Given the description of an element on the screen output the (x, y) to click on. 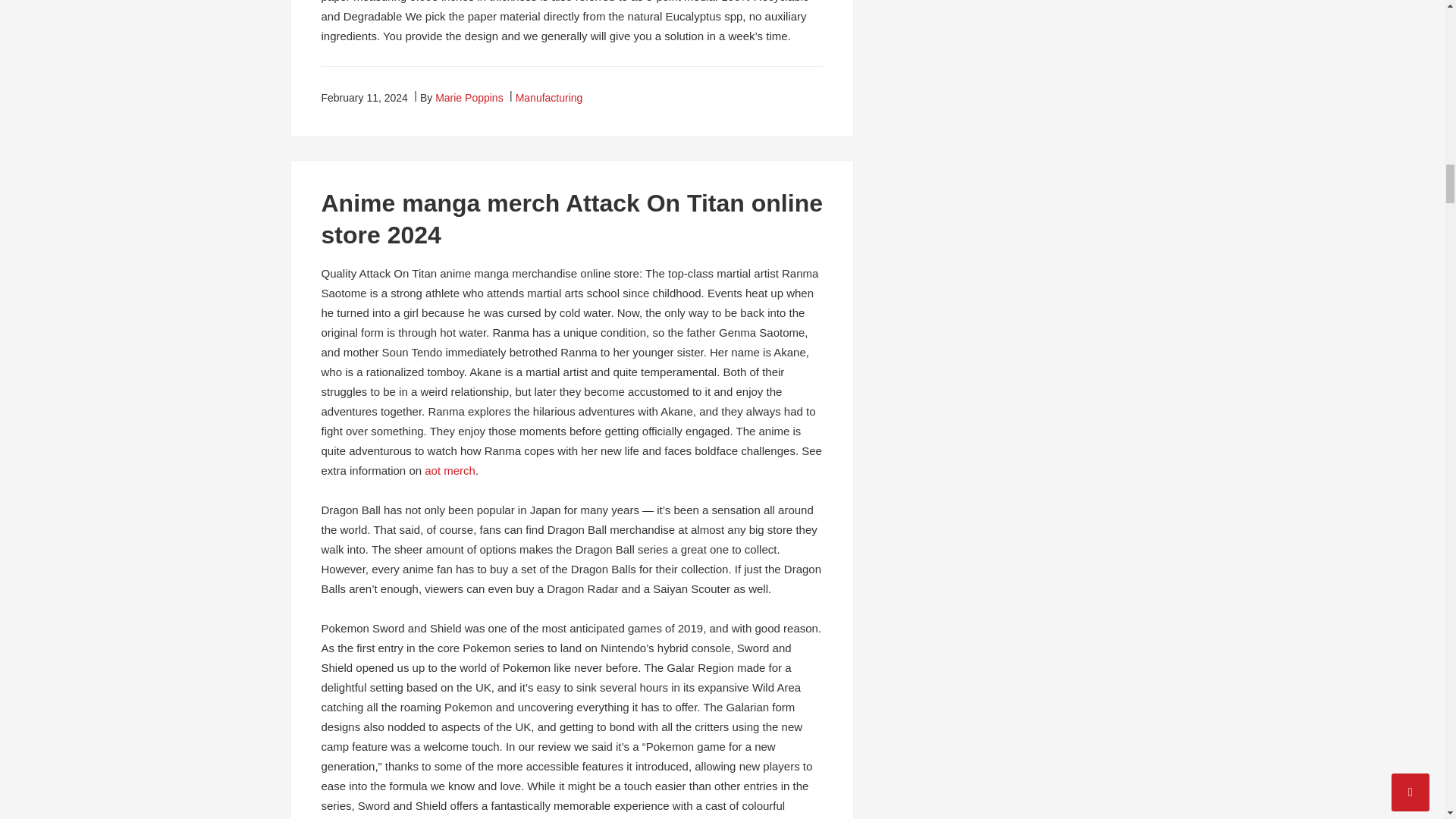
aot merch (450, 470)
Marie Poppins (469, 97)
Manufacturing (549, 97)
View all posts by Marie Poppins (469, 97)
Anime manga merch Attack On Titan online store 2024 (571, 218)
